Given the description of an element on the screen output the (x, y) to click on. 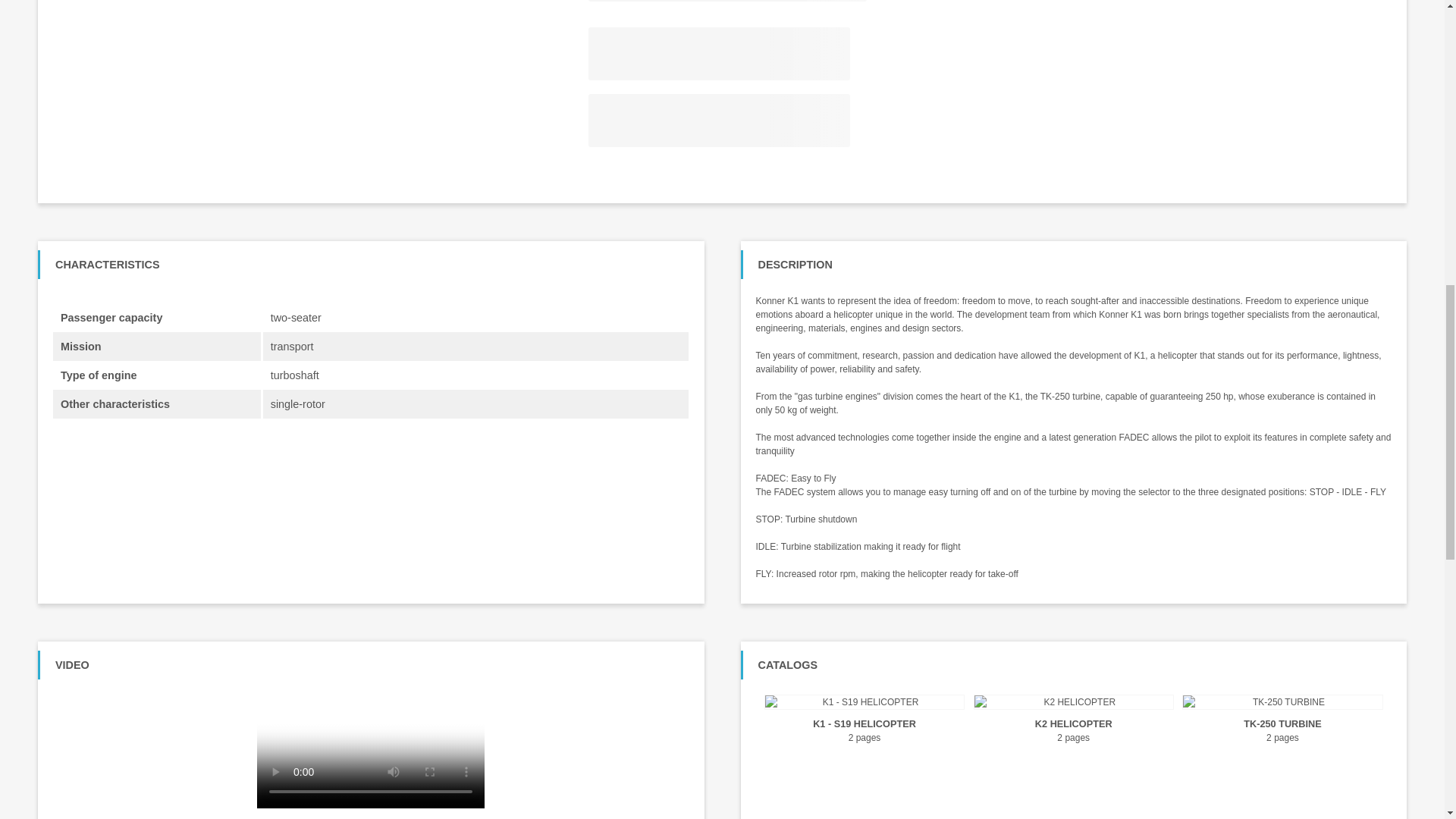
K1 - S19 HELICOPTER (863, 724)
K2 HELICOPTER (1073, 724)
TK-250 TURBINE (1281, 724)
